Given the description of an element on the screen output the (x, y) to click on. 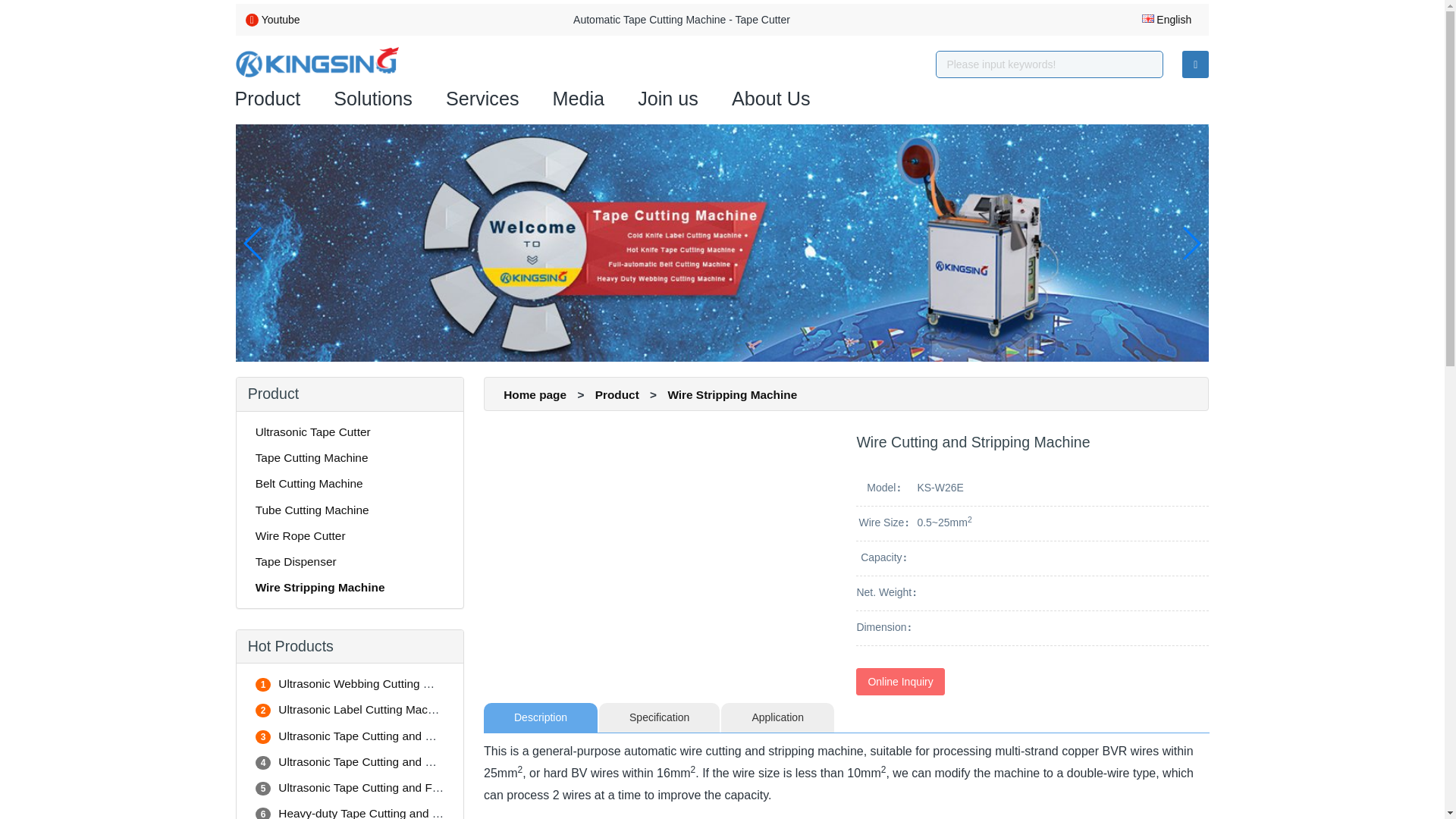
Media (579, 99)
Solutions (372, 99)
Product (267, 99)
English (1162, 19)
Product (267, 99)
Join us (667, 99)
Youtube (280, 19)
Solutions (372, 99)
Shanghai Kingsing Auto Co., Ltd. (316, 62)
English (1162, 19)
Services (482, 99)
